Given the description of an element on the screen output the (x, y) to click on. 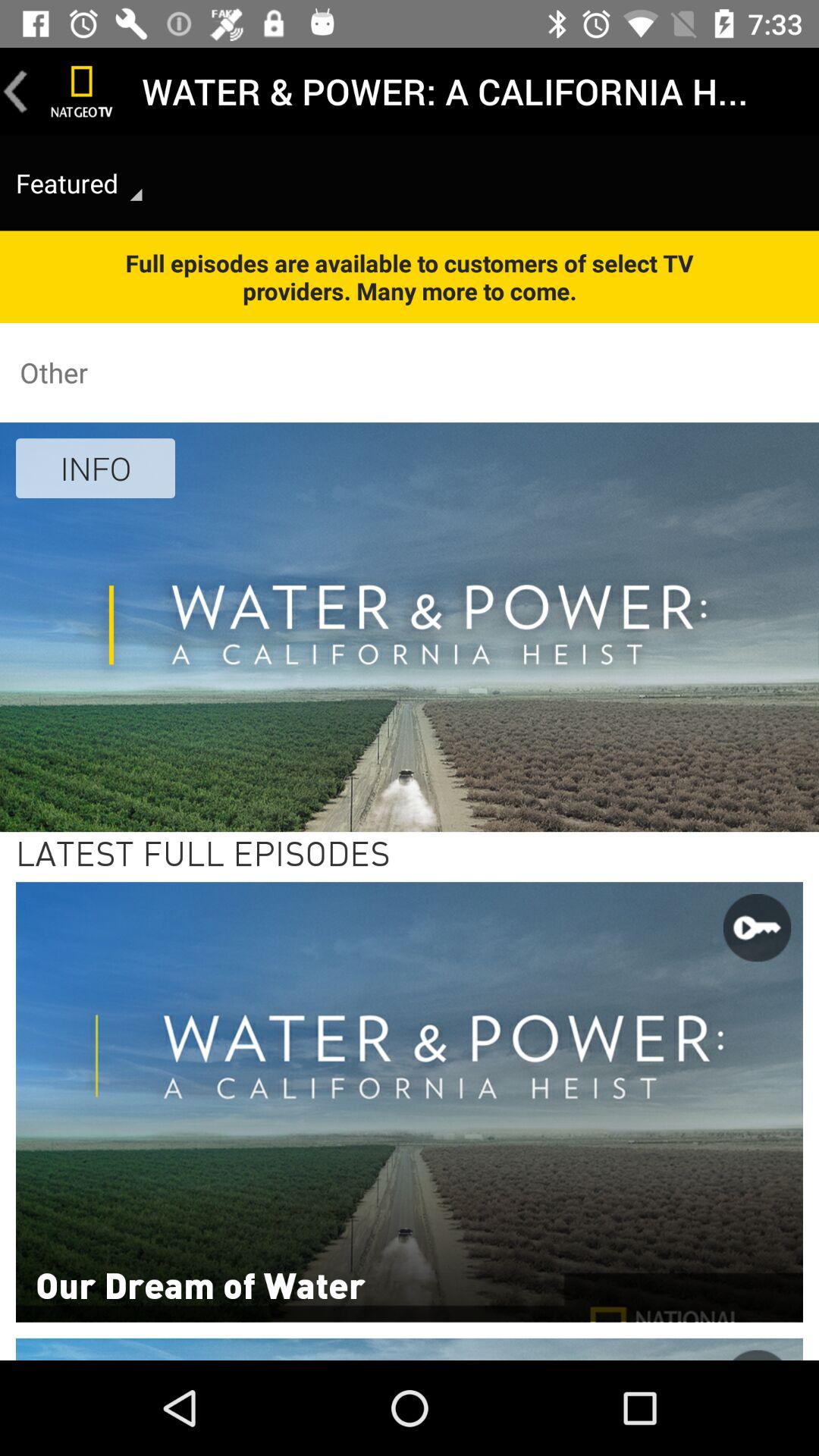
launch info (95, 468)
